Given the description of an element on the screen output the (x, y) to click on. 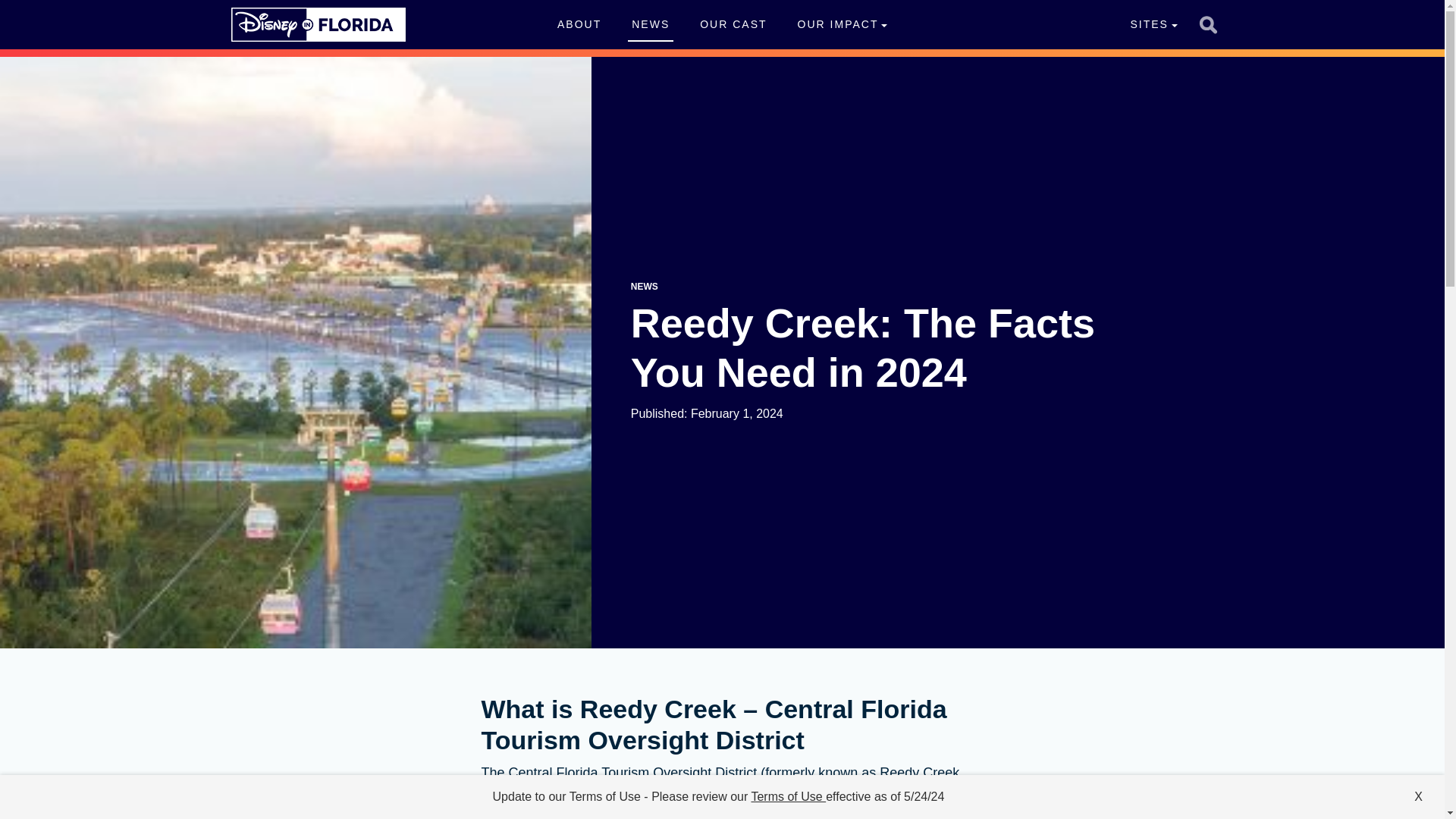
ABOUT (579, 24)
Terms of Use (788, 796)
NEWS (644, 286)
OUR CAST (732, 24)
OUR IMPACT (842, 24)
SITES (1152, 24)
Skip to content (40, 8)
NEWS (649, 24)
